Given the description of an element on the screen output the (x, y) to click on. 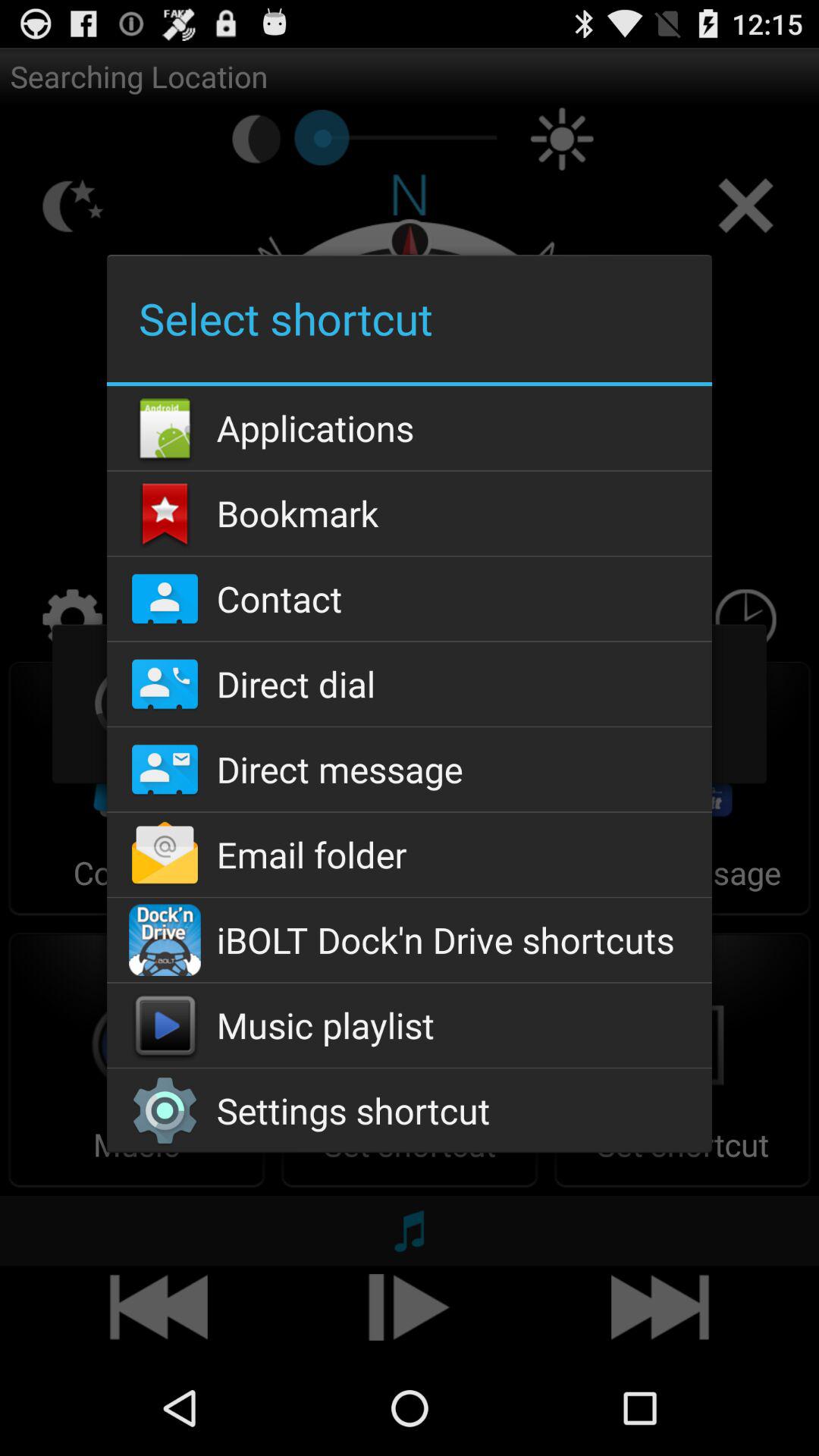
click the icon above the direct dial item (409, 598)
